Given the description of an element on the screen output the (x, y) to click on. 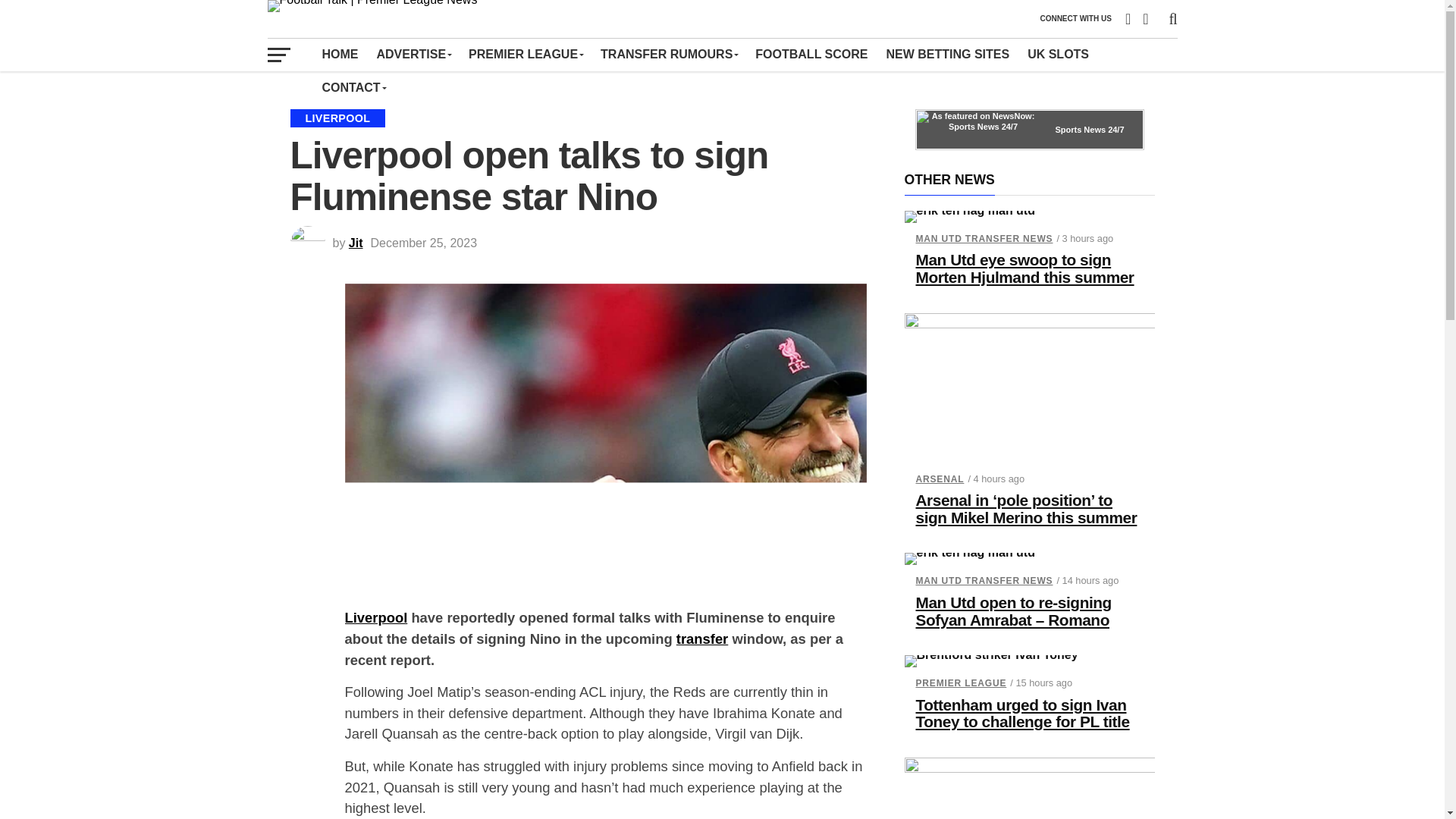
HOME (339, 54)
ADVERTISE (413, 54)
Advertise on Football-Talk (413, 54)
Premier League News (525, 54)
PREMIER LEAGUE (525, 54)
